Given the description of an element on the screen output the (x, y) to click on. 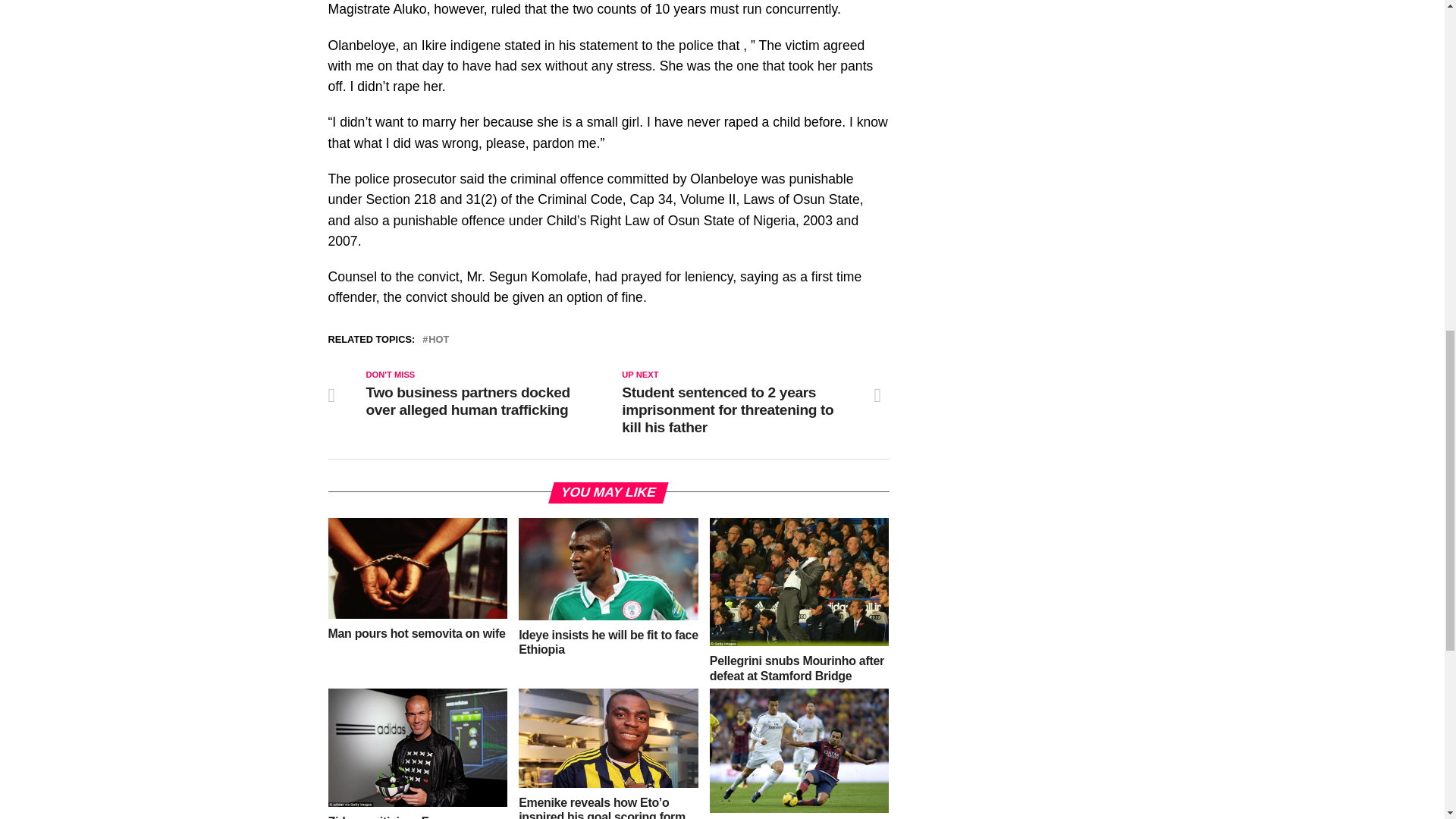
HOT (438, 339)
